Given the description of an element on the screen output the (x, y) to click on. 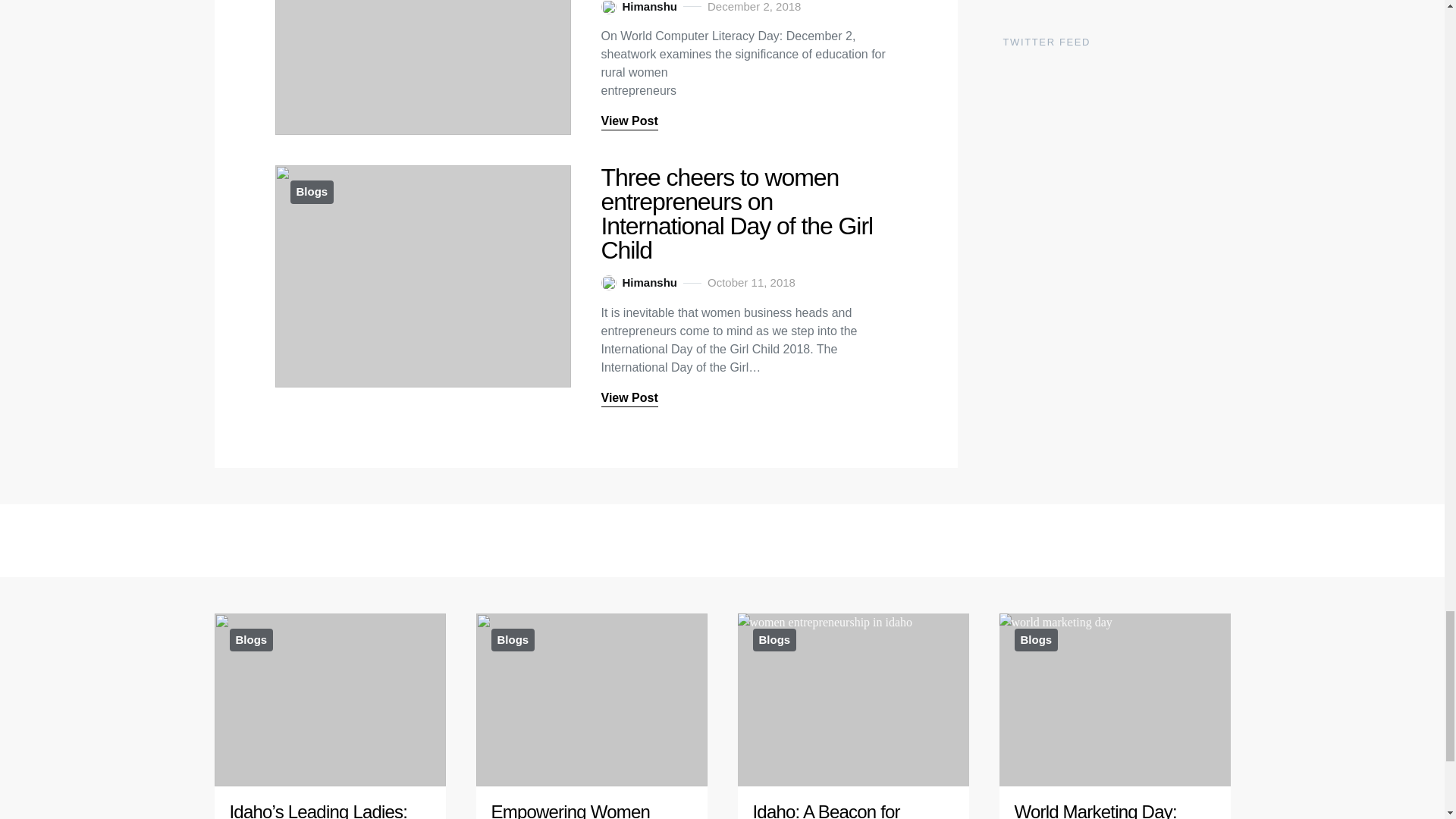
View all posts by Himanshu (638, 282)
View all posts by Himanshu (638, 7)
